Given the description of an element on the screen output the (x, y) to click on. 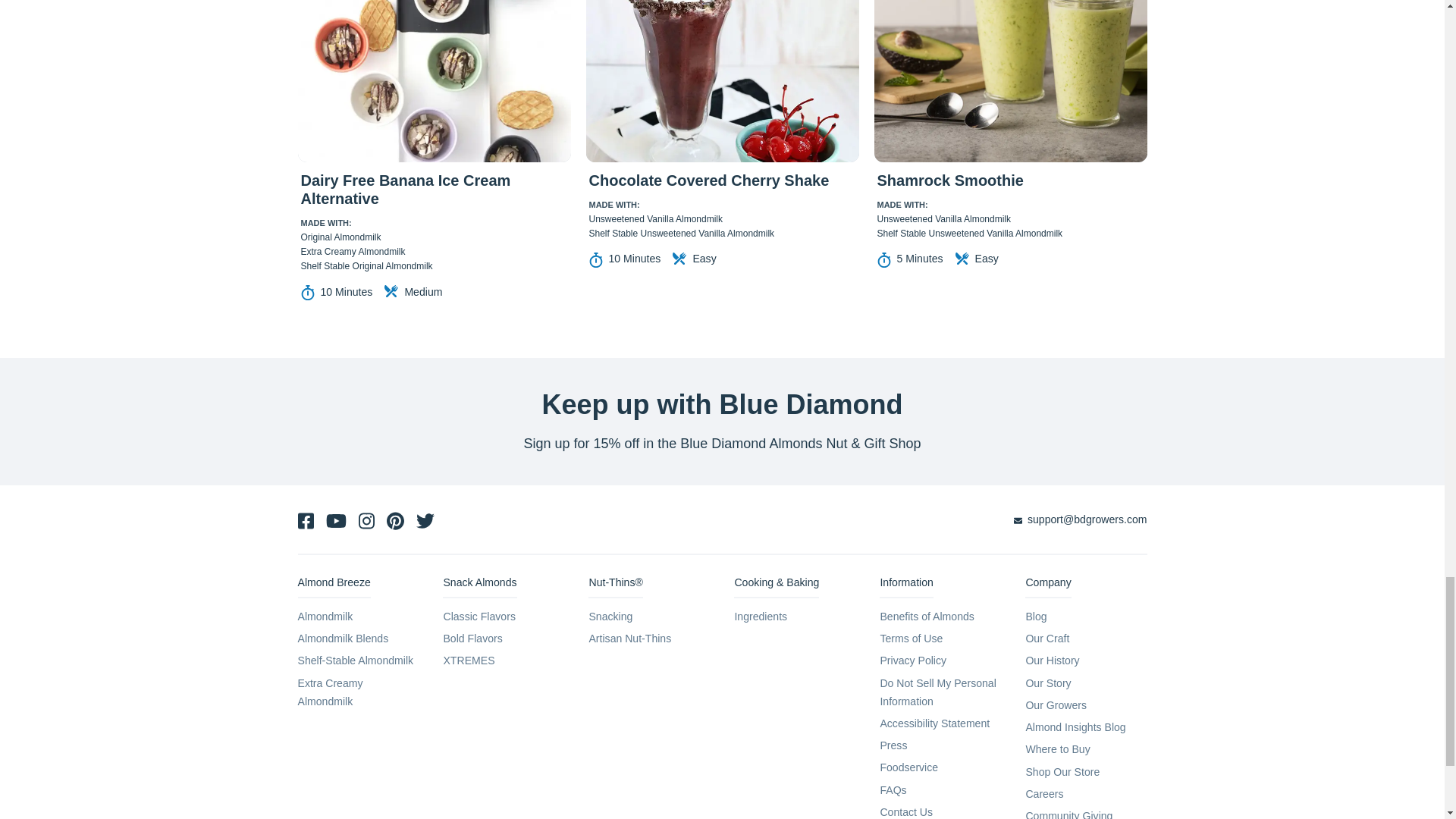
XTREMES (468, 660)
Shelf-Stable Almondmilk (355, 660)
Classic Flavors (478, 616)
Almondmilk Blends (342, 638)
Almond Breeze (333, 586)
Ingredients (760, 616)
Extra Creamy Almondmilk (329, 692)
Bold Flavors (472, 638)
